Given the description of an element on the screen output the (x, y) to click on. 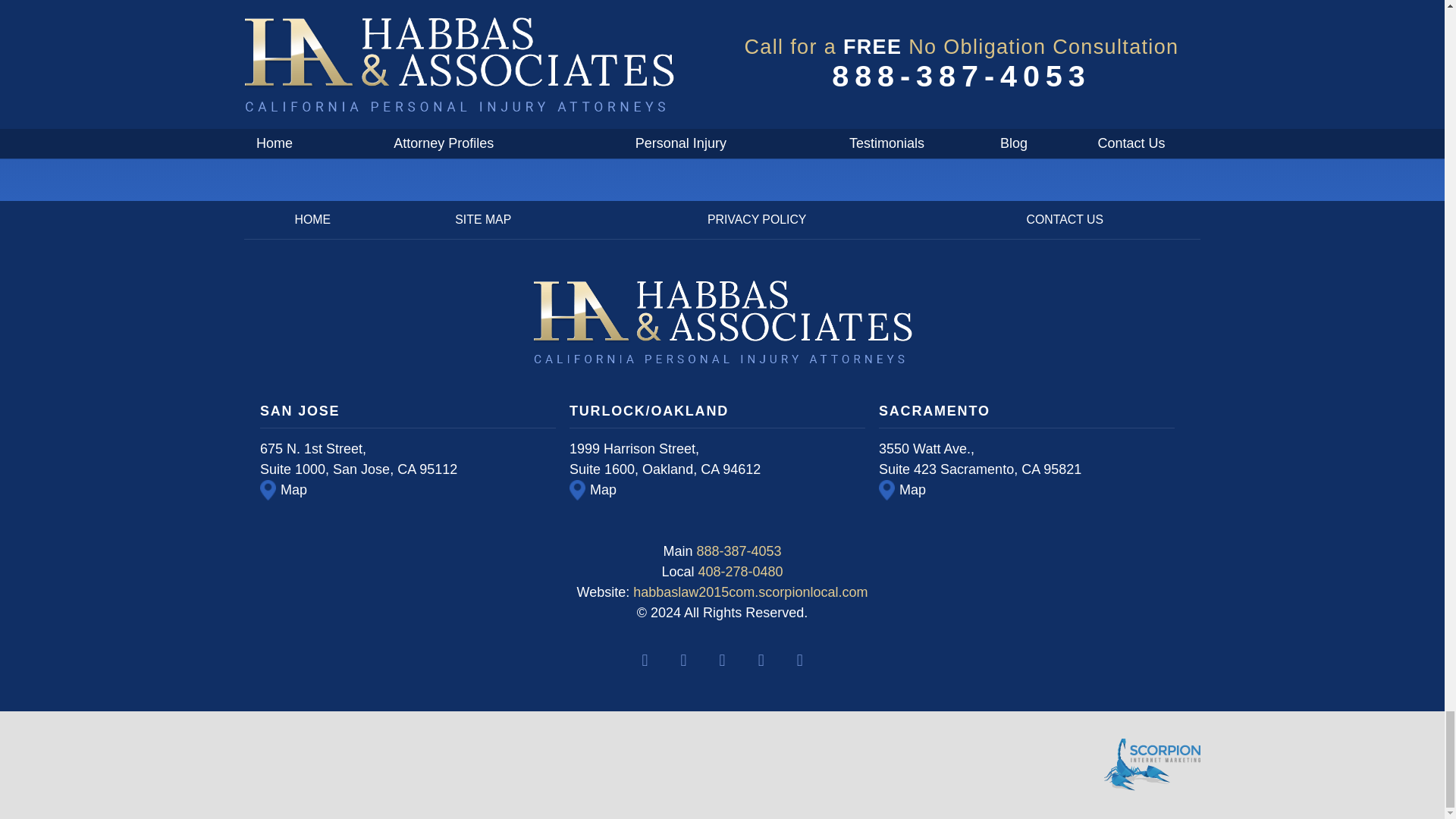
Internet Marketing Experts (1151, 764)
